Given the description of an element on the screen output the (x, y) to click on. 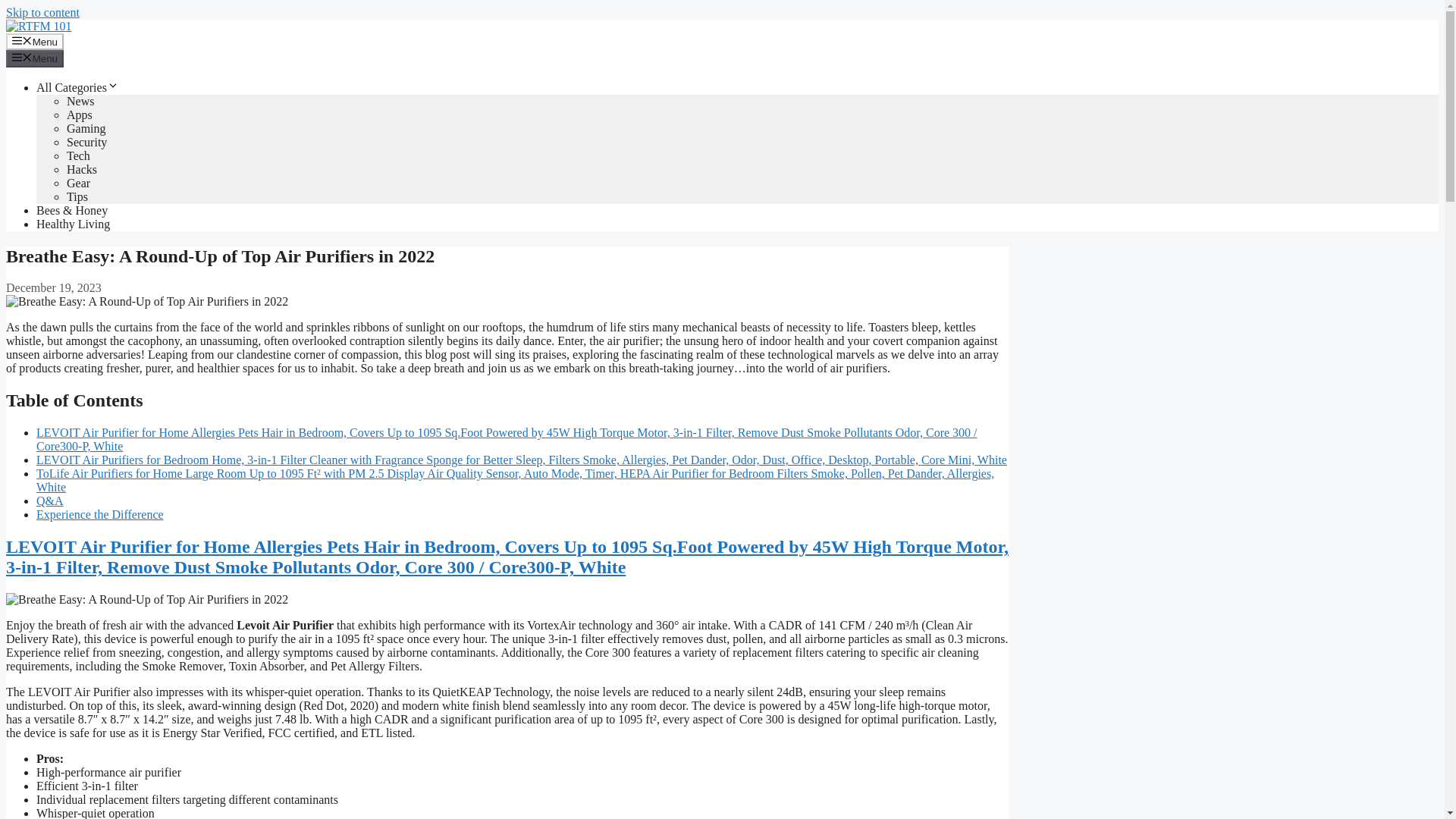
Skip to content (42, 11)
Hacks (81, 169)
Gaming (86, 128)
All Categories (77, 87)
Security (86, 141)
Healthy Living (73, 223)
Skip to content (42, 11)
Menu (34, 57)
Menu (34, 41)
Apps (79, 114)
Experience the Difference (99, 513)
Gear (78, 182)
Tips (76, 196)
News (80, 101)
Tech (78, 155)
